Given the description of an element on the screen output the (x, y) to click on. 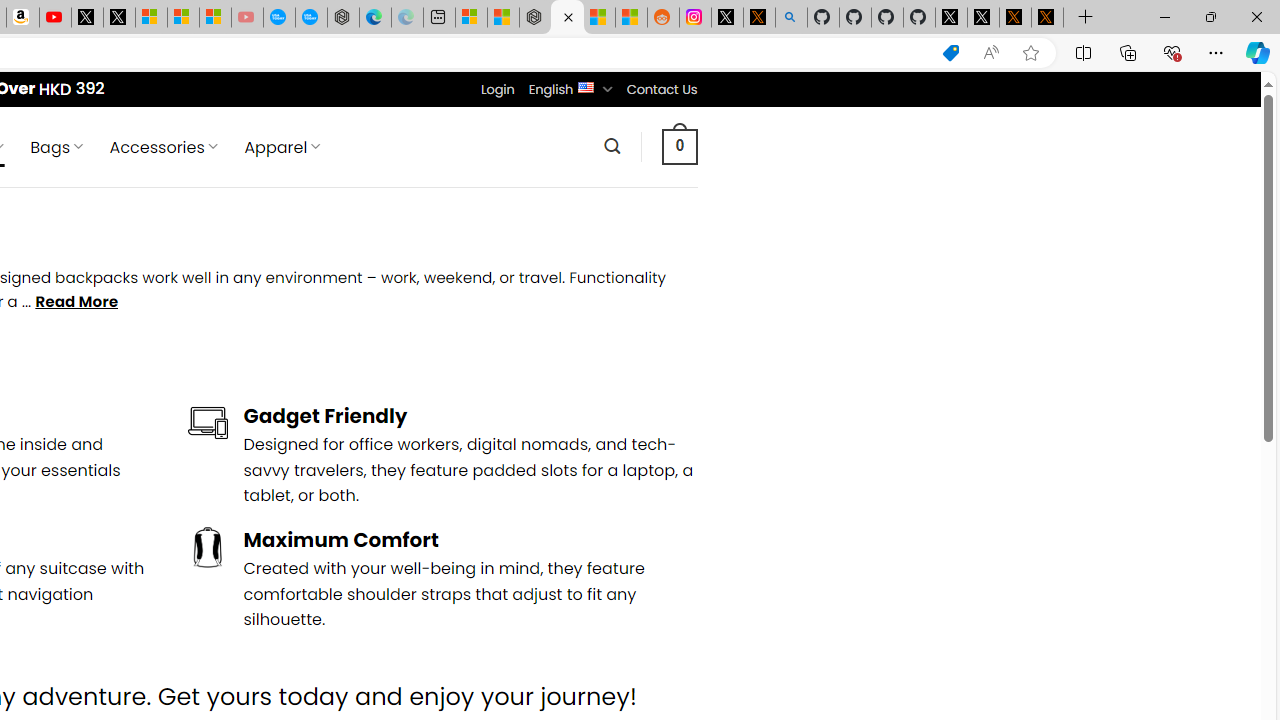
github - Search (791, 17)
The most popular Google 'how to' searches (310, 17)
GitHub (@github) / X (983, 17)
Microsoft account | Microsoft Account Privacy Settings (471, 17)
